Given the description of an element on the screen output the (x, y) to click on. 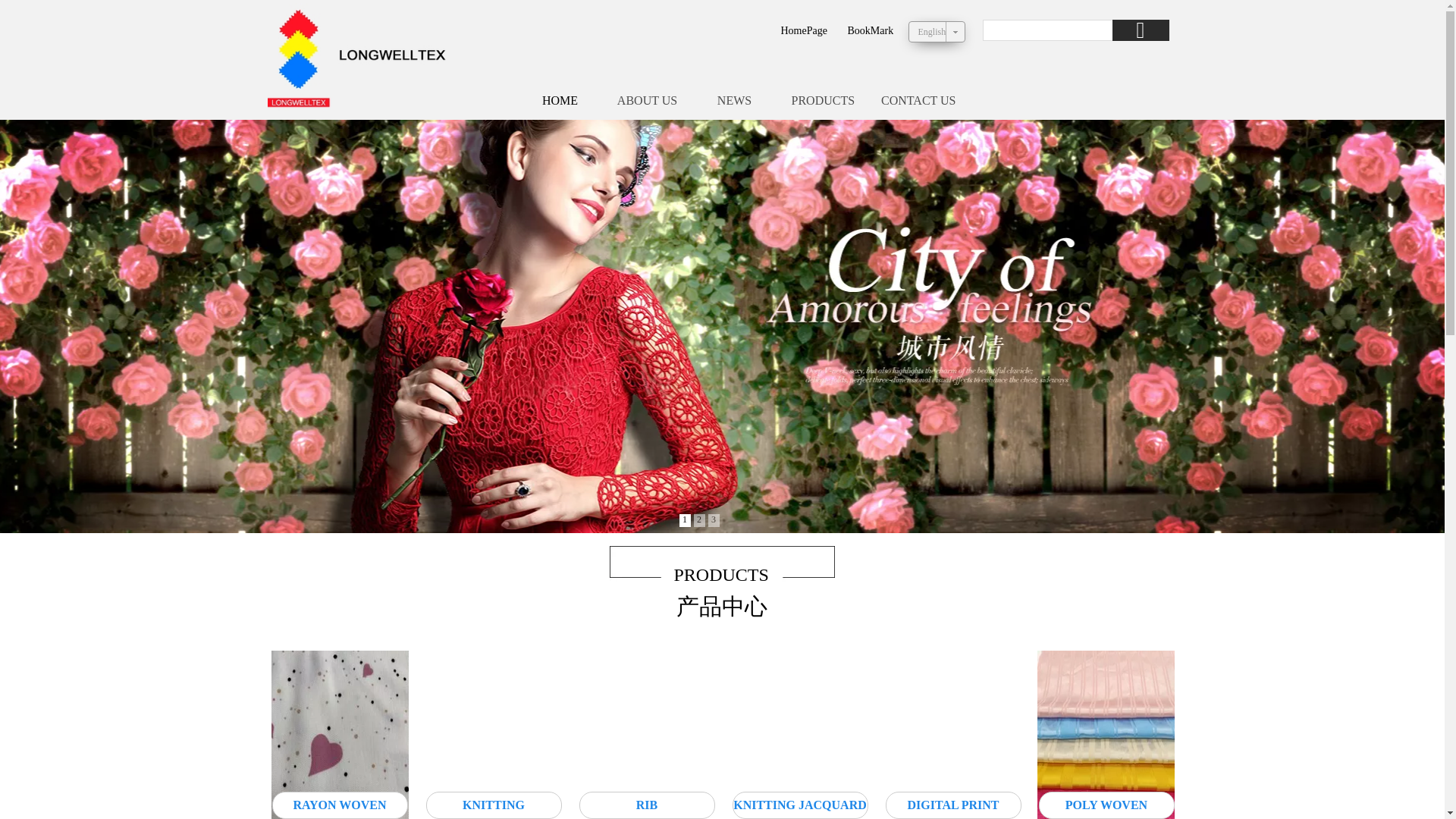
BookMark (870, 30)
NEWS (733, 100)
PRODUCTS (824, 100)
English (930, 30)
CONTACT US (917, 100)
HOME (559, 100)
DIGITAL PRINT (953, 805)
POLY WOVEN (1106, 805)
KNITTING (494, 805)
English (930, 31)
